Given the description of an element on the screen output the (x, y) to click on. 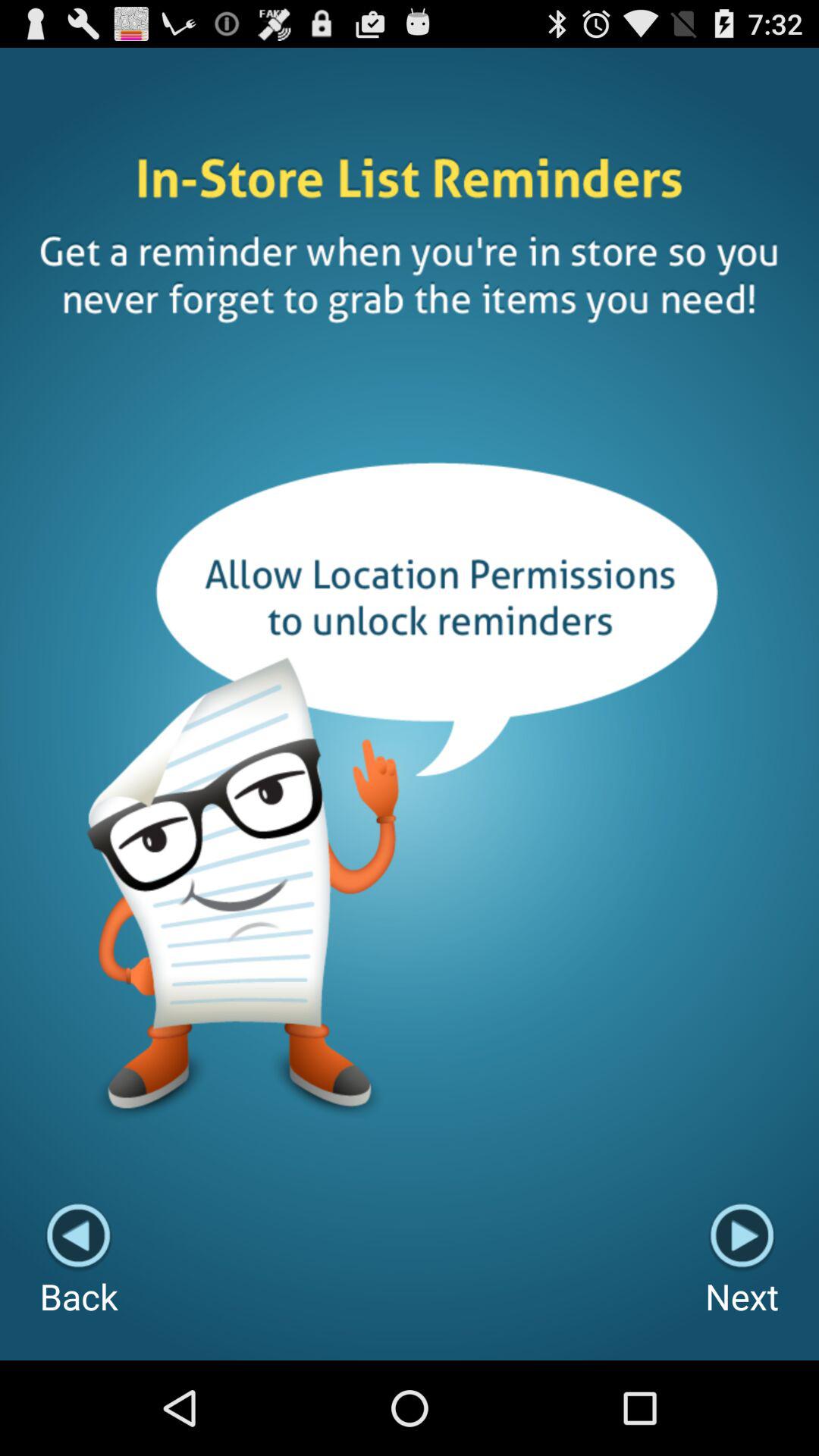
choose the button next to the next icon (79, 1260)
